Given the description of an element on the screen output the (x, y) to click on. 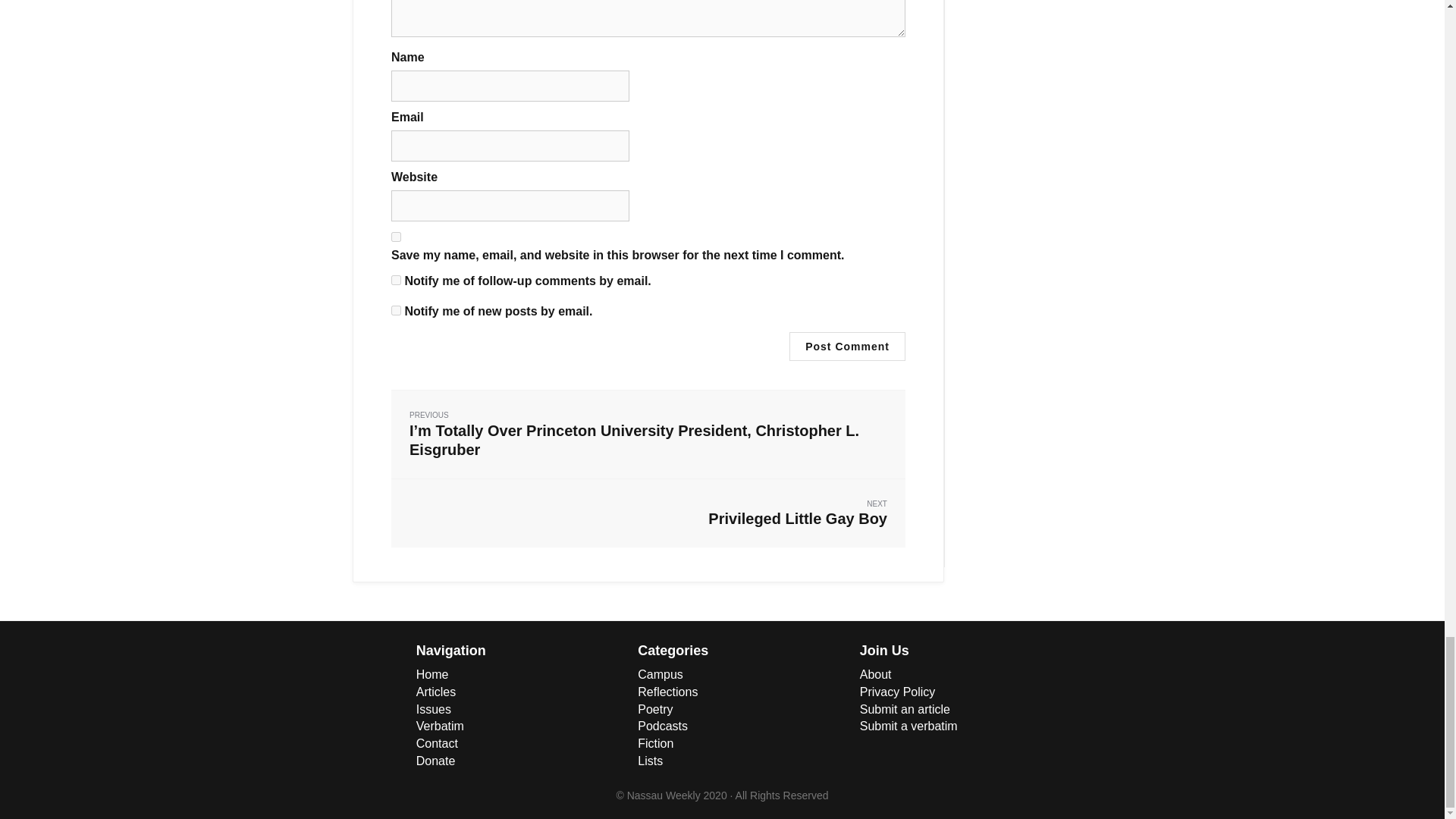
Post Comment (648, 512)
subscribe (847, 346)
subscribe (396, 280)
yes (396, 310)
Post Comment (396, 236)
